Given the description of an element on the screen output the (x, y) to click on. 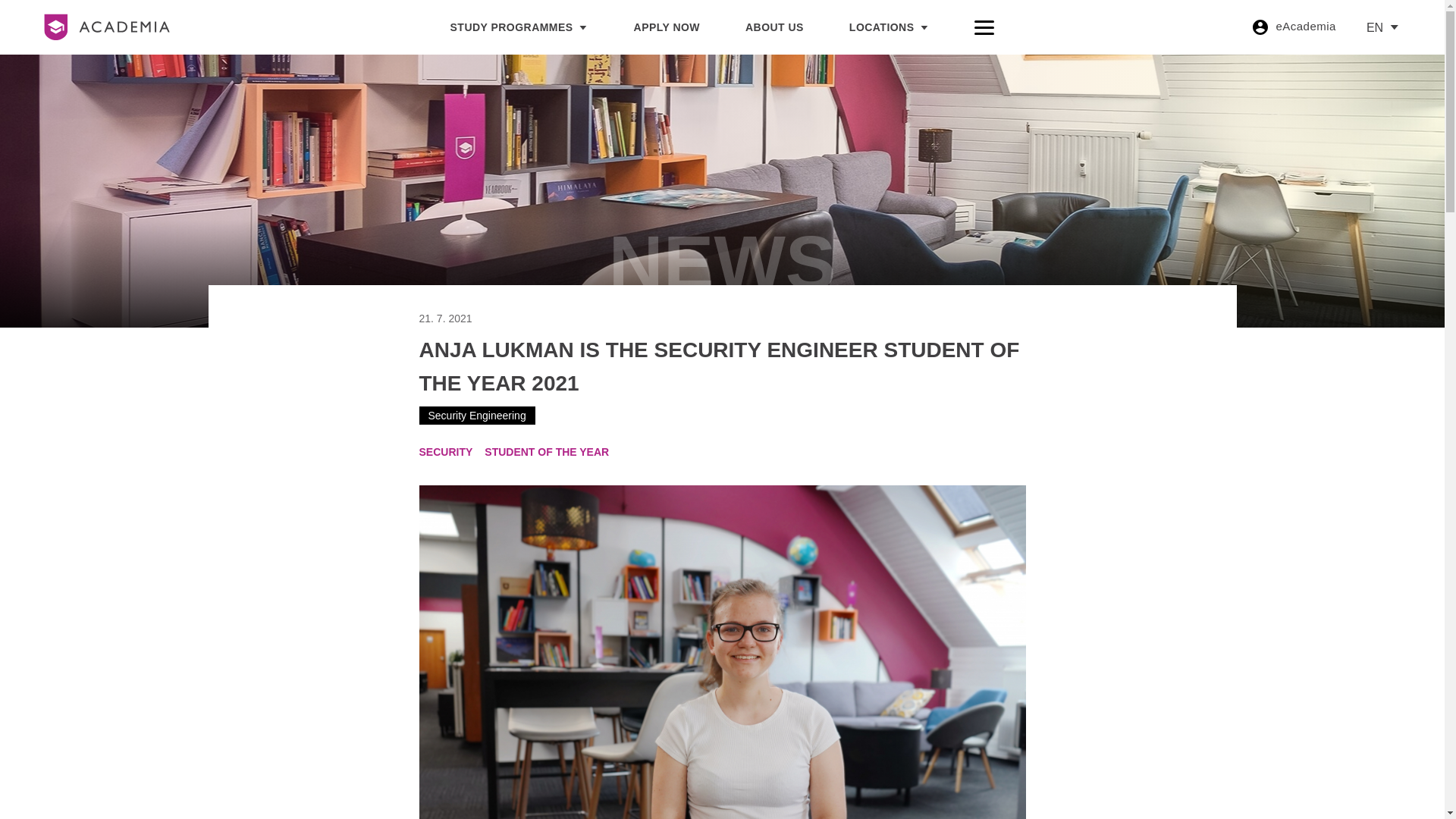
ABOUT US (774, 27)
LOCATIONS (889, 27)
STUDY PROGRAMMES (518, 27)
eAcademia (1293, 27)
EN (1377, 27)
APPLY NOW (666, 27)
